Given the description of an element on the screen output the (x, y) to click on. 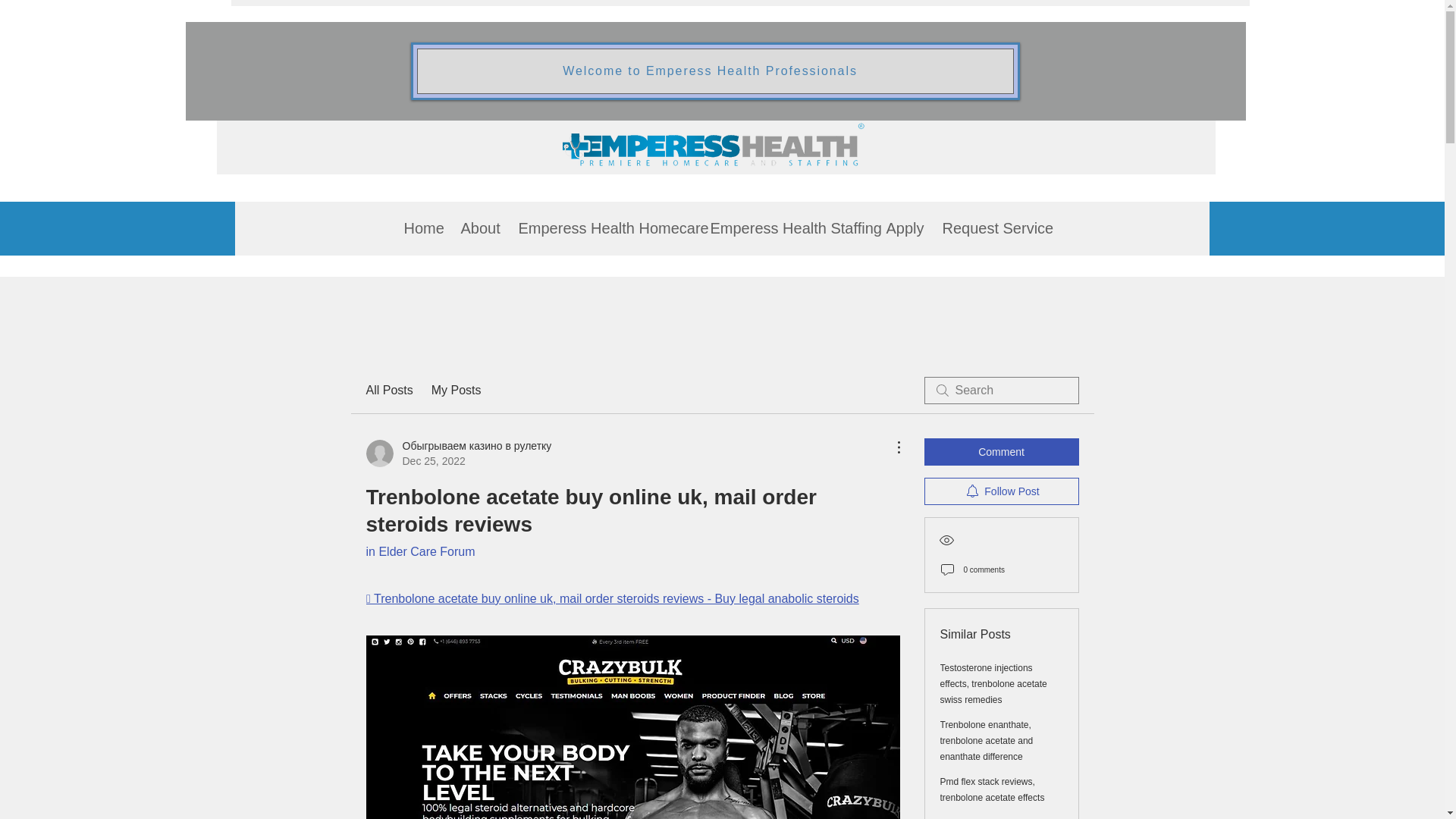
Pmd flex stack reviews, trenbolone acetate effects (992, 789)
Emperess Health Staffing (786, 228)
Apply (902, 228)
Follow Post (1000, 491)
in Elder Care Forum (419, 551)
About (477, 228)
Comment (1000, 452)
Home (419, 228)
My Posts (455, 390)
